Given the description of an element on the screen output the (x, y) to click on. 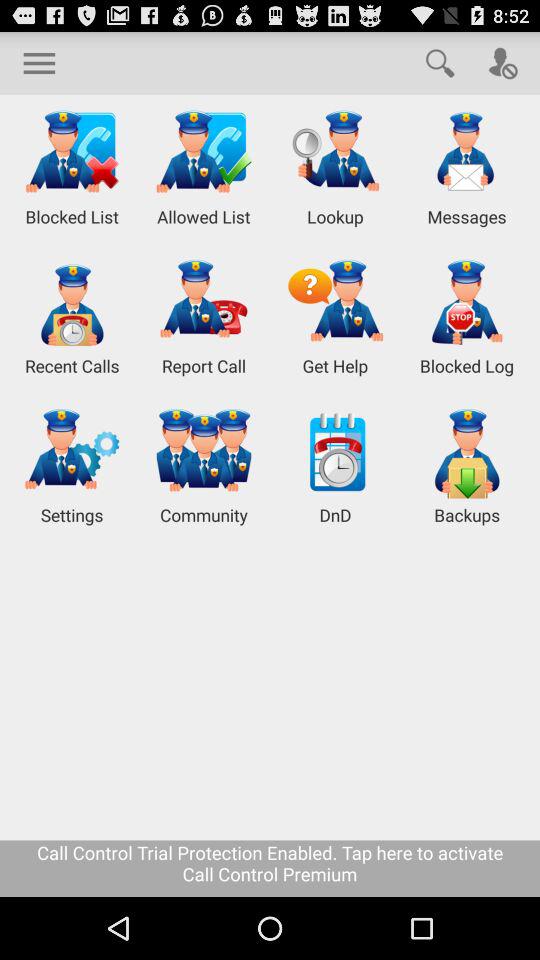
search (439, 62)
